Given the description of an element on the screen output the (x, y) to click on. 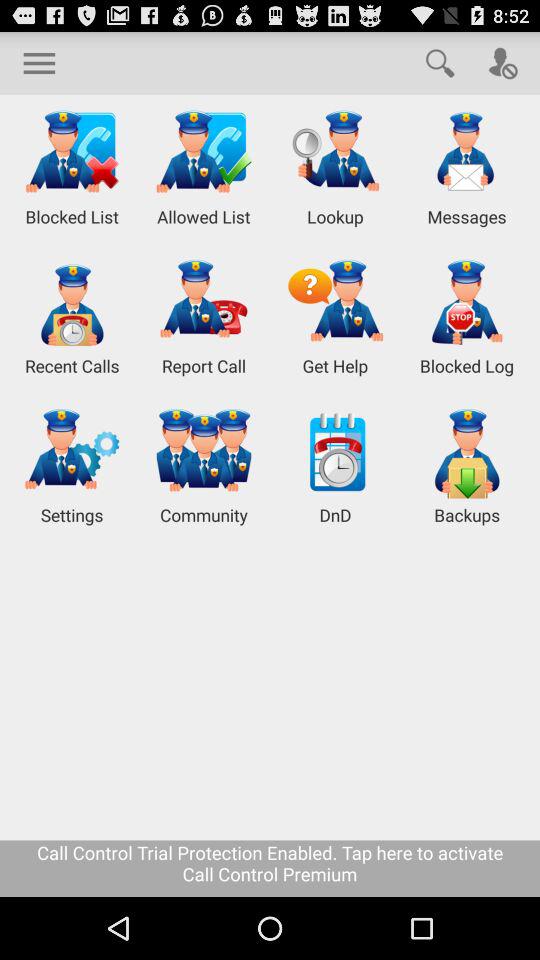
search (439, 62)
